Given the description of an element on the screen output the (x, y) to click on. 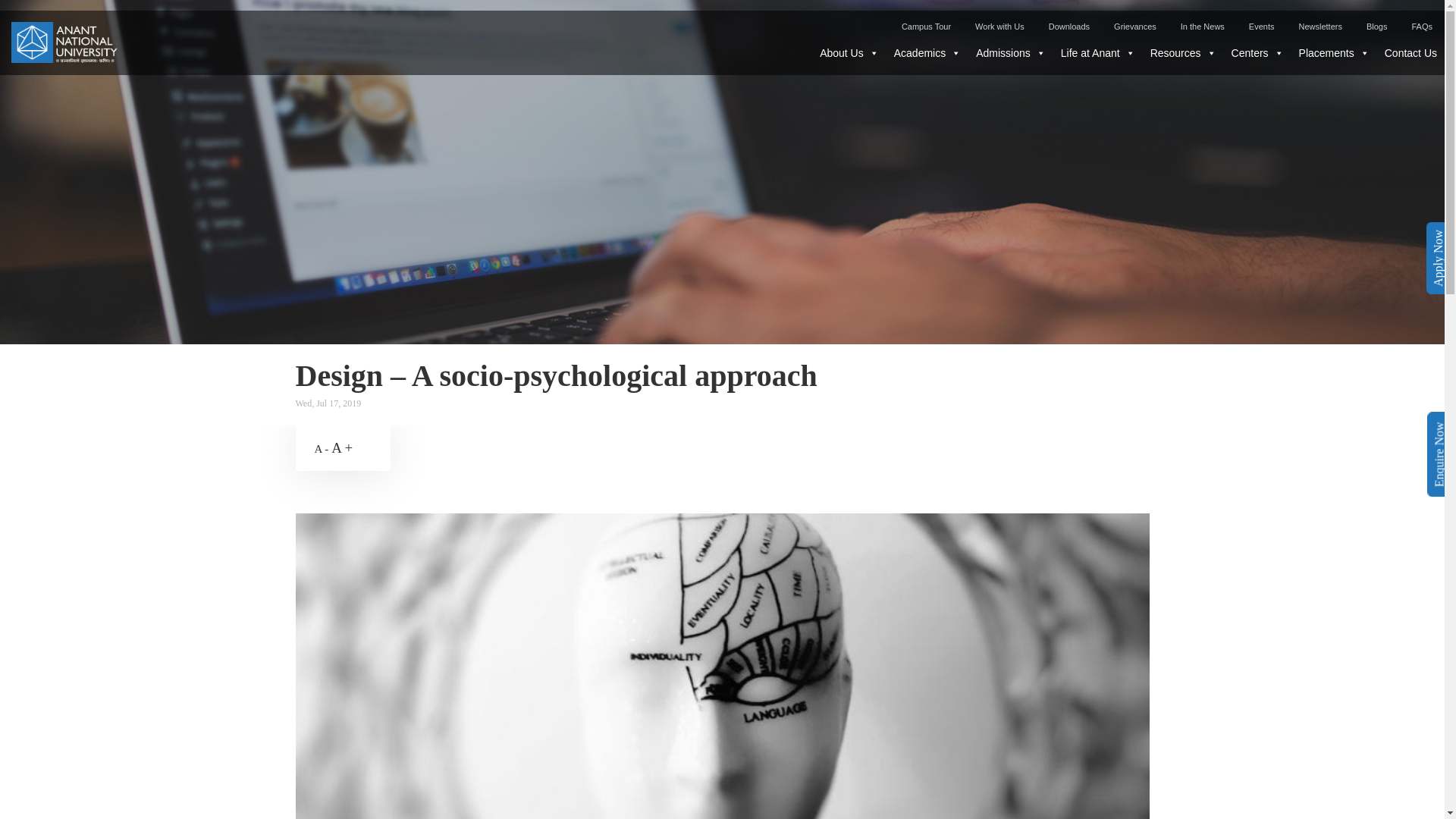
Work with Us (999, 21)
Downloads (1069, 21)
In the News (1202, 21)
Grievances (1135, 21)
Academics (927, 52)
About Us (849, 52)
Admissions (1010, 52)
Newsletters (1319, 21)
Campus Tour (925, 21)
Blogs (1376, 21)
Life at Anant (1097, 52)
Events (1261, 21)
